Given the description of an element on the screen output the (x, y) to click on. 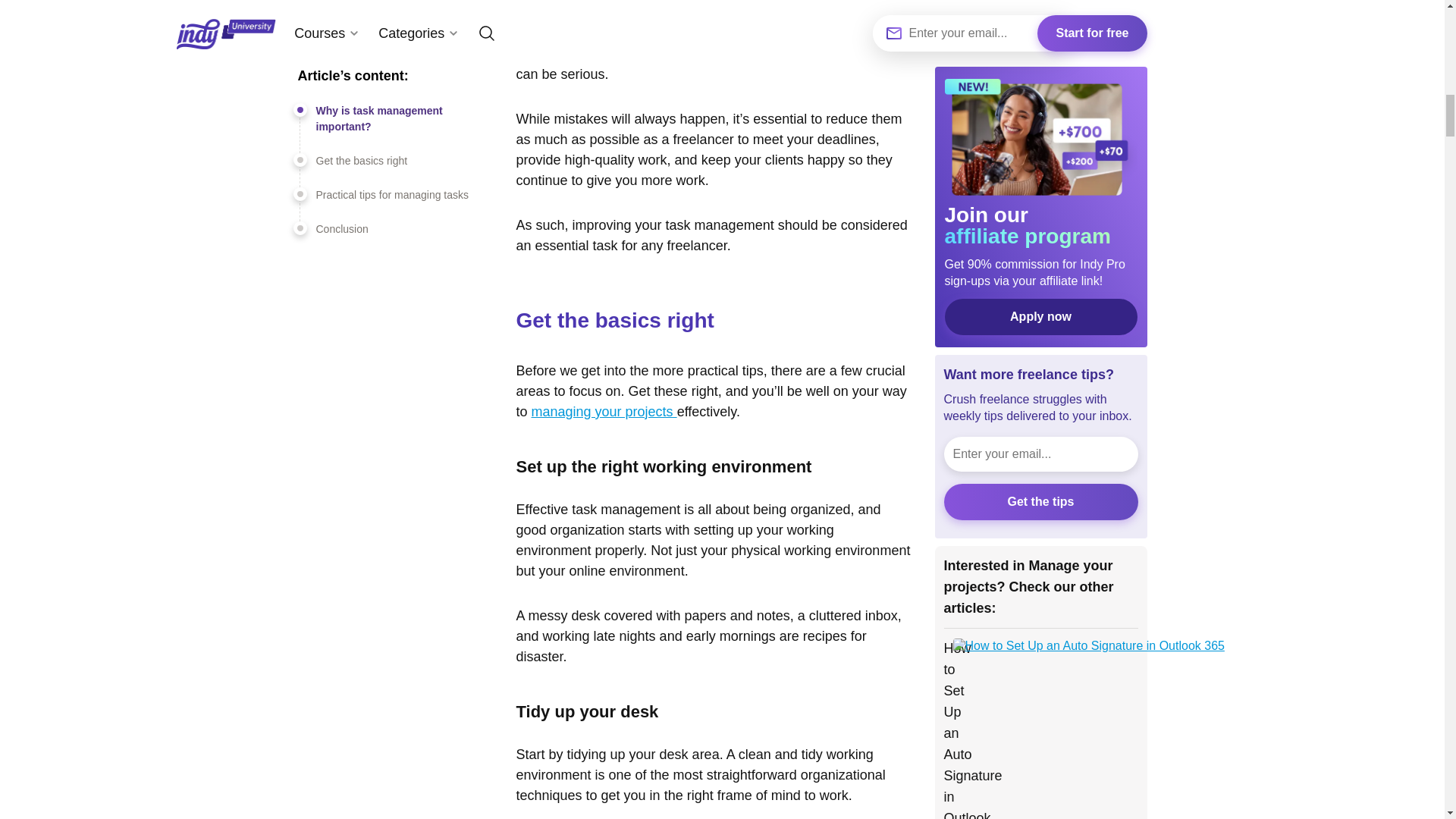
Be more productive (995, 305)
Get inspired (976, 356)
Beginner (1101, 524)
List (1044, 524)
Tools (1036, 460)
managing your projects (604, 411)
Comparison (980, 524)
Manage your time (992, 382)
Creativity (974, 460)
Project management (1001, 492)
Career path (975, 330)
